Given the description of an element on the screen output the (x, y) to click on. 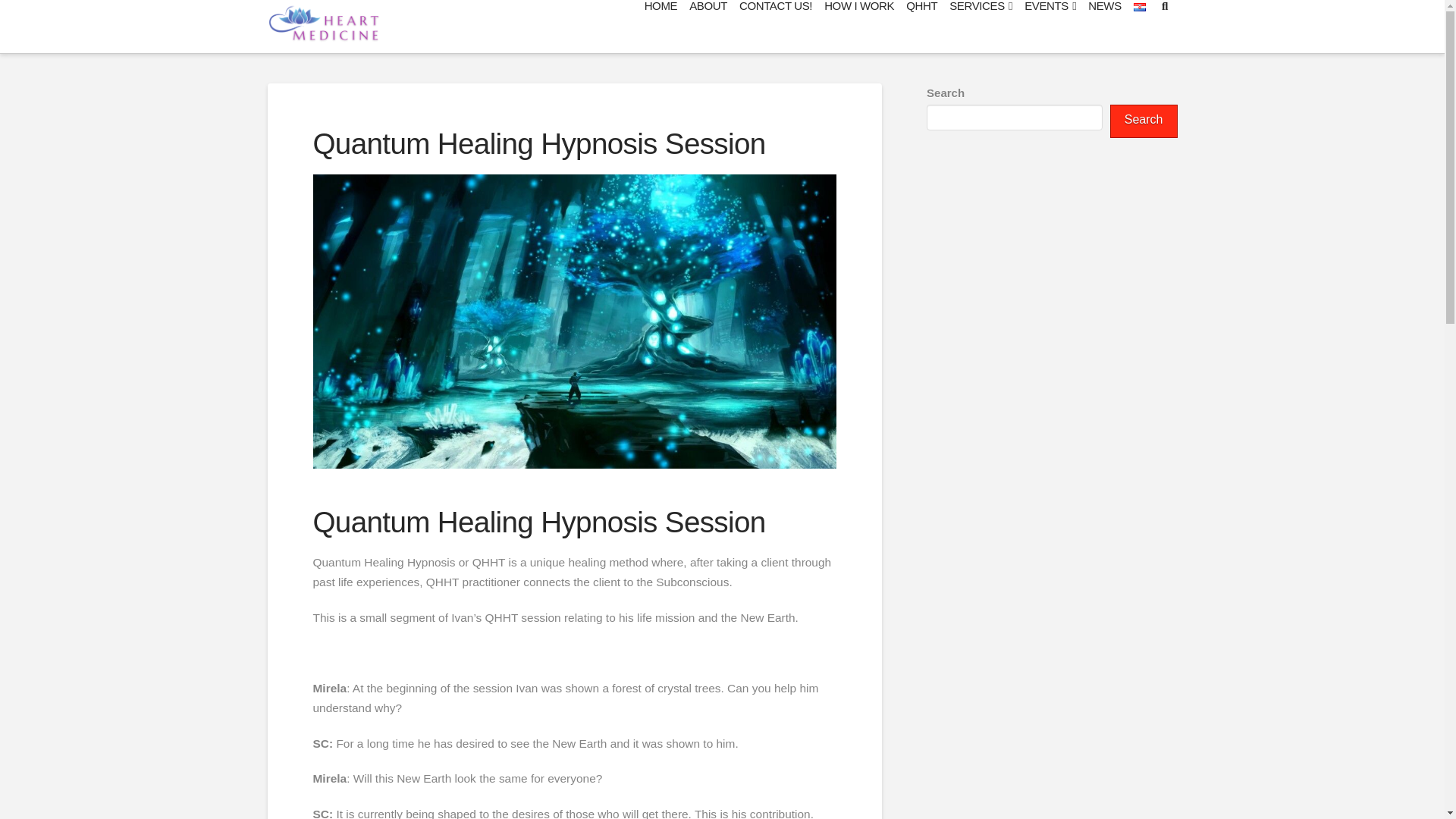
ABOUT (707, 26)
Search (1143, 121)
EVENTS (1049, 26)
Vibrational Healing sample (1051, 240)
SERVICES (980, 26)
CONTACT US! (775, 26)
HOW I WORK (858, 26)
